Given the description of an element on the screen output the (x, y) to click on. 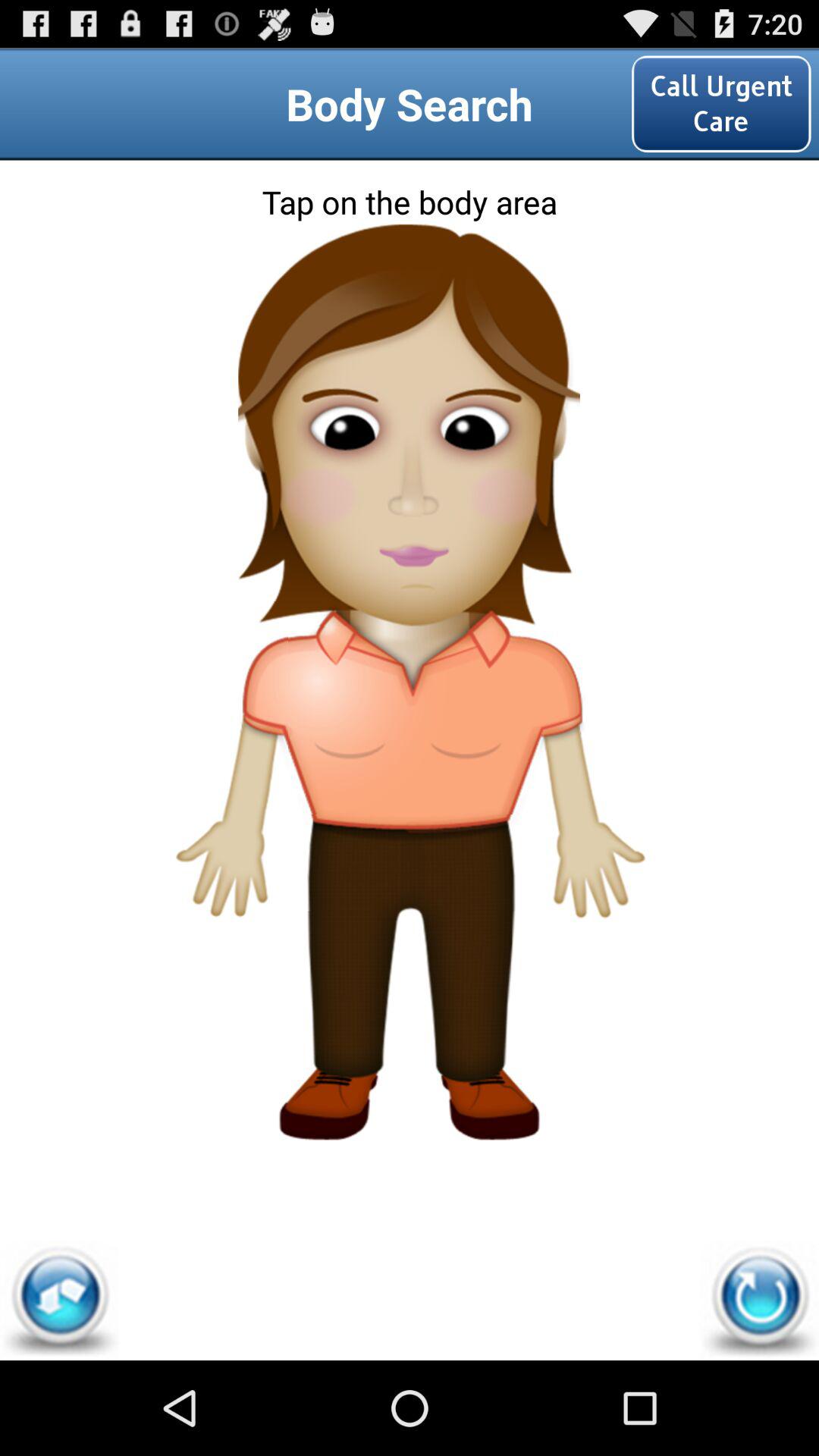
press app below tap on the icon (759, 1300)
